Given the description of an element on the screen output the (x, y) to click on. 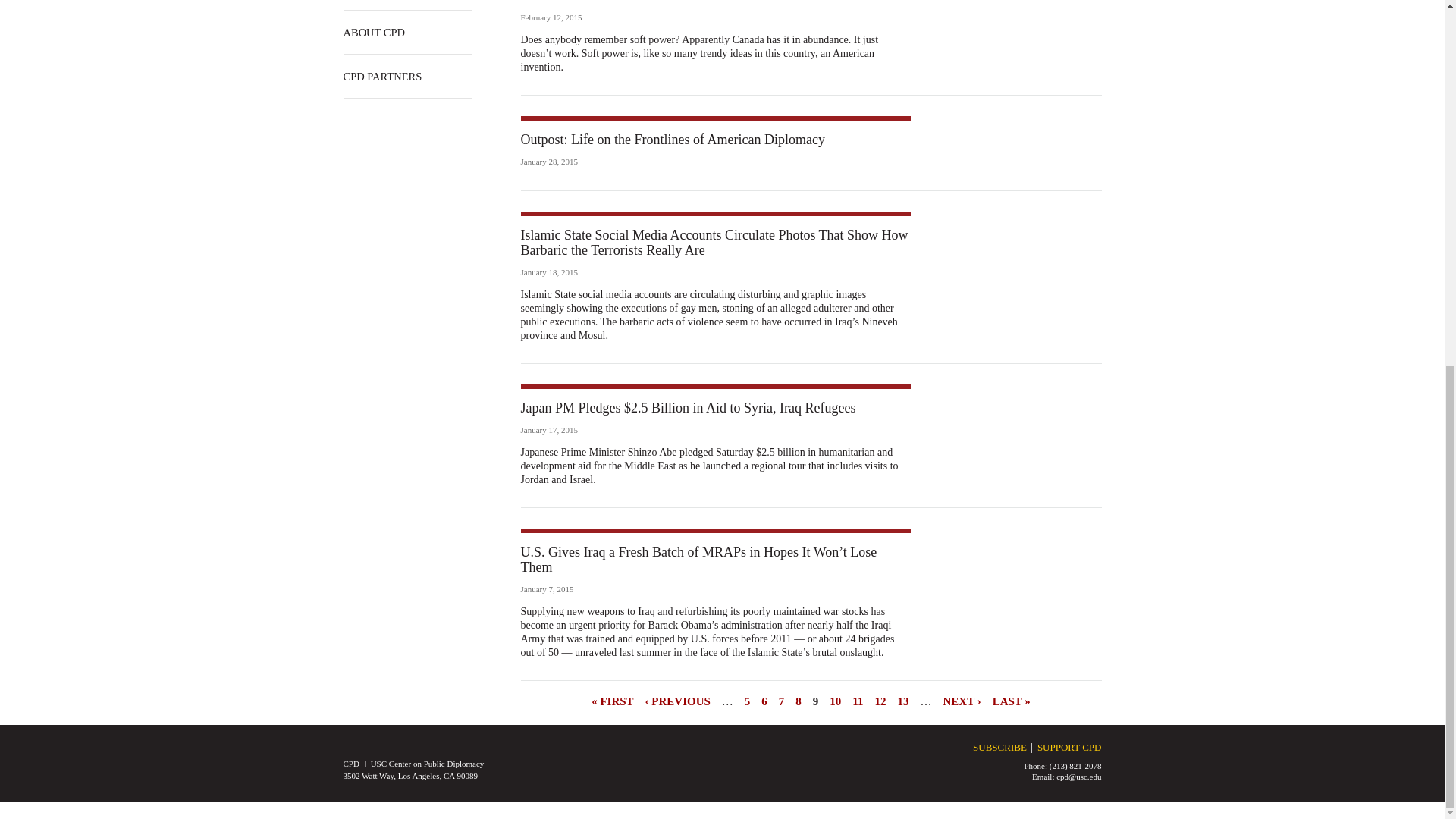
EDUCATION (374, 4)
